Given the description of an element on the screen output the (x, y) to click on. 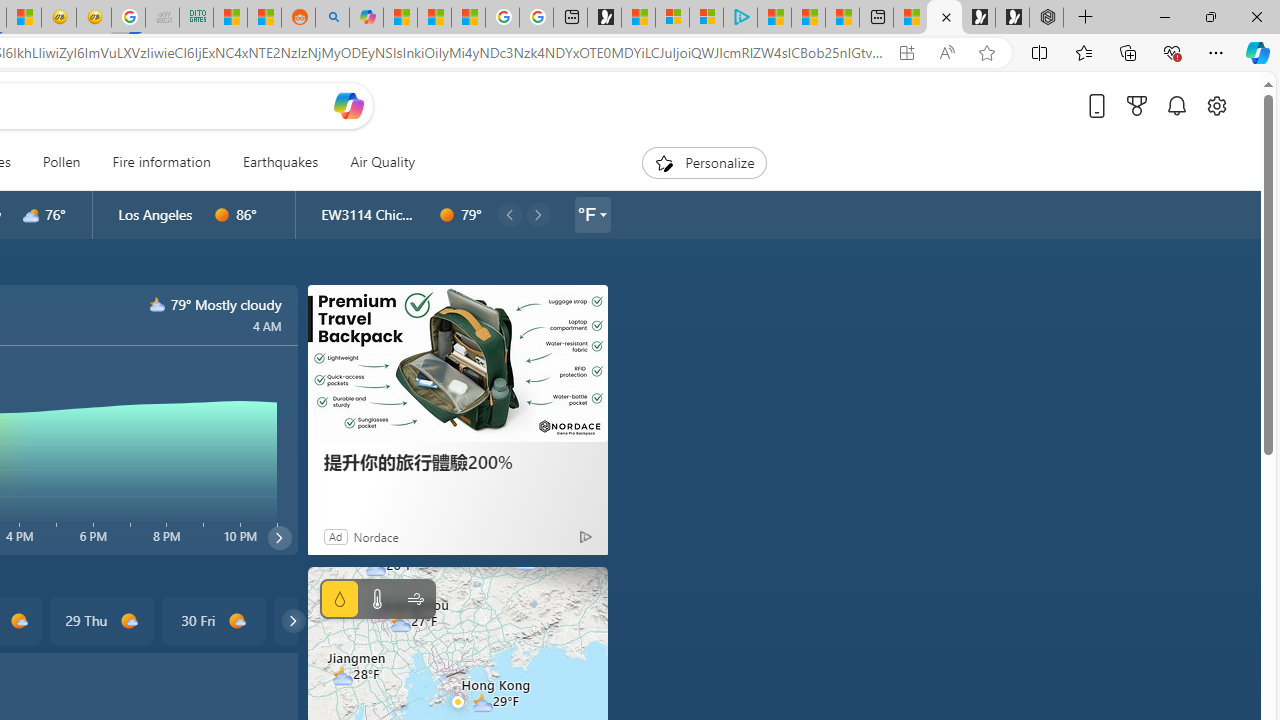
Microsoft Copilot in Bing (365, 17)
Fire information (161, 162)
locationBar/triangle (602, 214)
Earthquakes (279, 162)
